Given the description of an element on the screen output the (x, y) to click on. 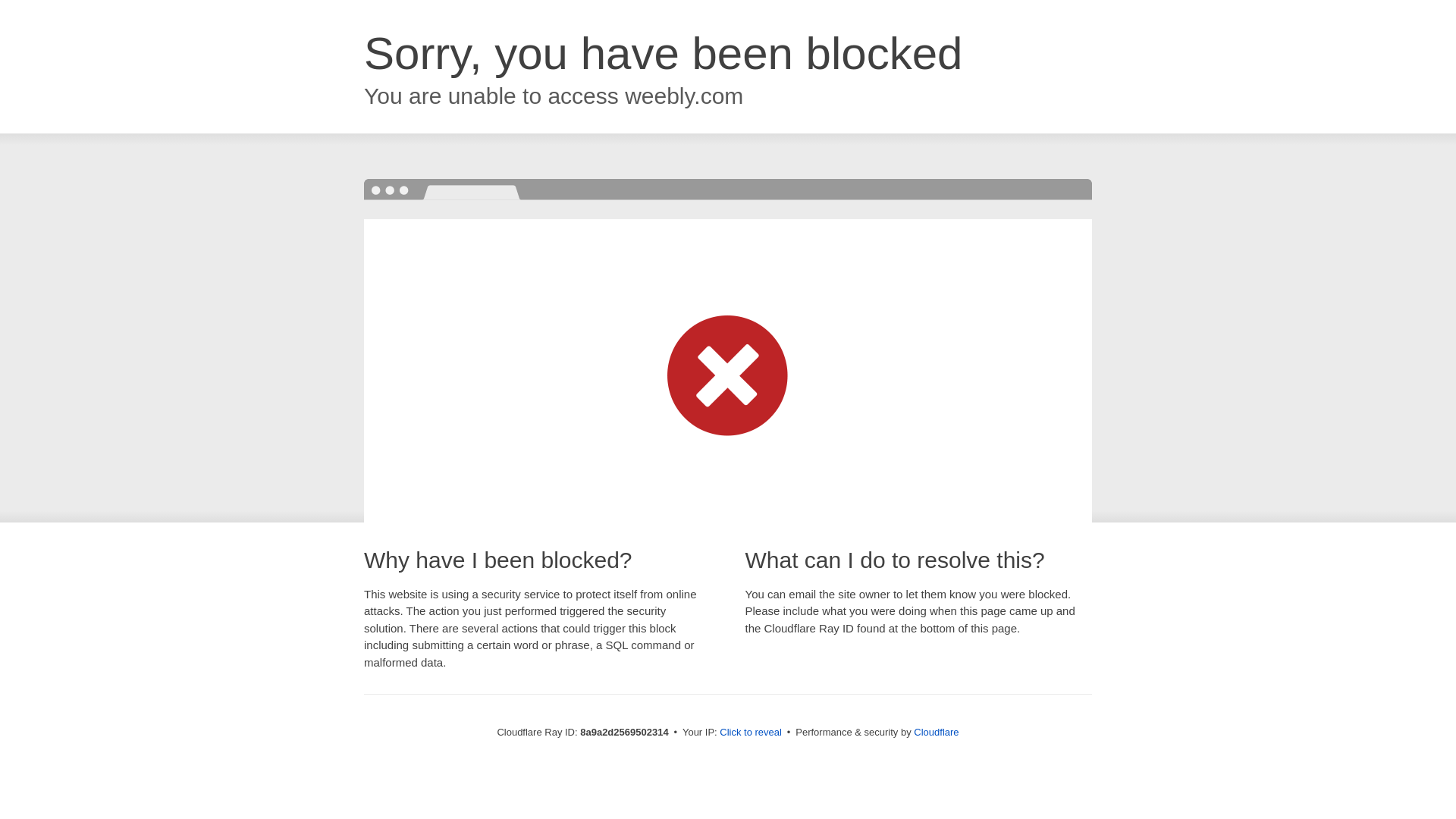
Cloudflare (936, 731)
Click to reveal (750, 732)
